Given the description of an element on the screen output the (x, y) to click on. 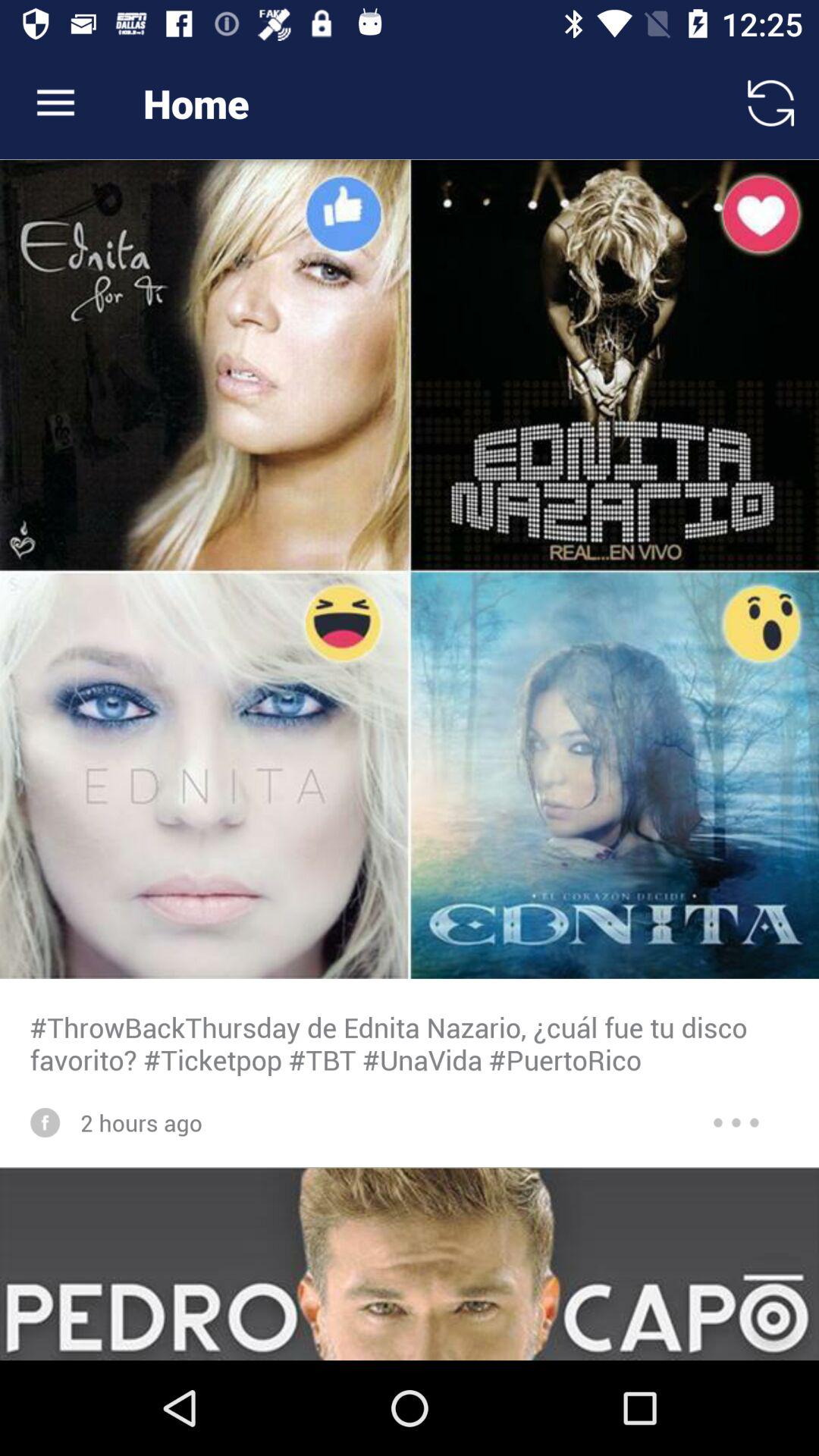
choose icon to the right of the home item (771, 103)
